Given the description of an element on the screen output the (x, y) to click on. 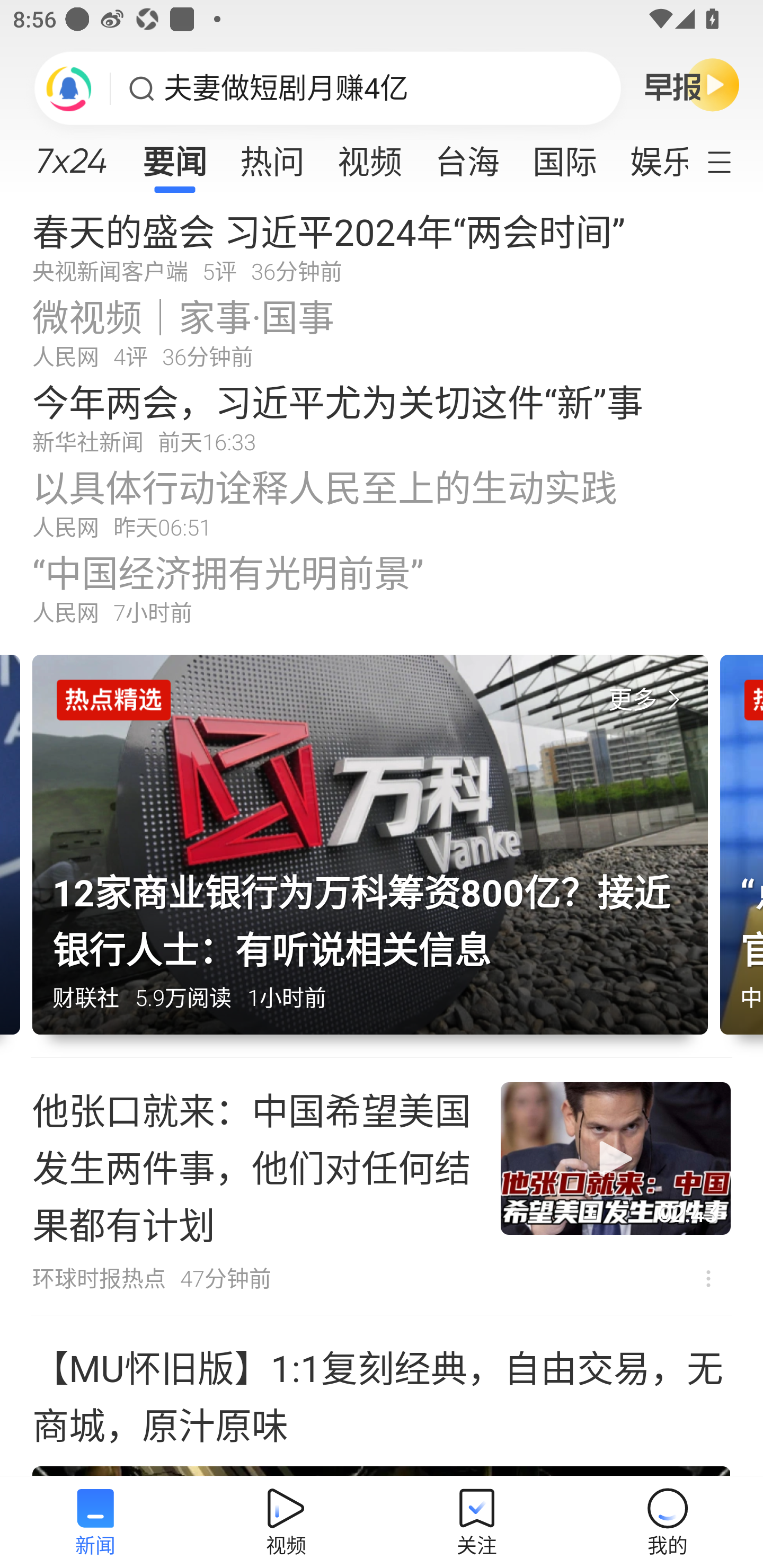
早晚报 (691, 84)
刷新 (68, 88)
夫妻做短剧月赚4亿 (286, 88)
7x24 (70, 154)
要闻 (174, 155)
热问 (272, 155)
视频 (369, 155)
台海 (466, 155)
国际 (564, 155)
娱乐 (650, 155)
 定制频道 (731, 160)
春天的盛会 习近平2024年“两会时间” 央视新闻客户端 5评 36分钟前 (381, 245)
微视频｜家事·国事 人民网 4评 36分钟前 (381, 331)
今年两会，习近平尤为关切这件“新”事 新华社新闻 前天16:33 (381, 416)
以具体行动诠释人民至上的生动实践 人民网 昨天06:51 (381, 502)
“中国经济拥有光明前景” 人民网 7小时前 (381, 587)
更多  (648, 699)
 不感兴趣 (707, 1278)
【MU怀旧版】1:1复刻经典，自由交易，无商城，原汁原味 (381, 1396)
